Given the description of an element on the screen output the (x, y) to click on. 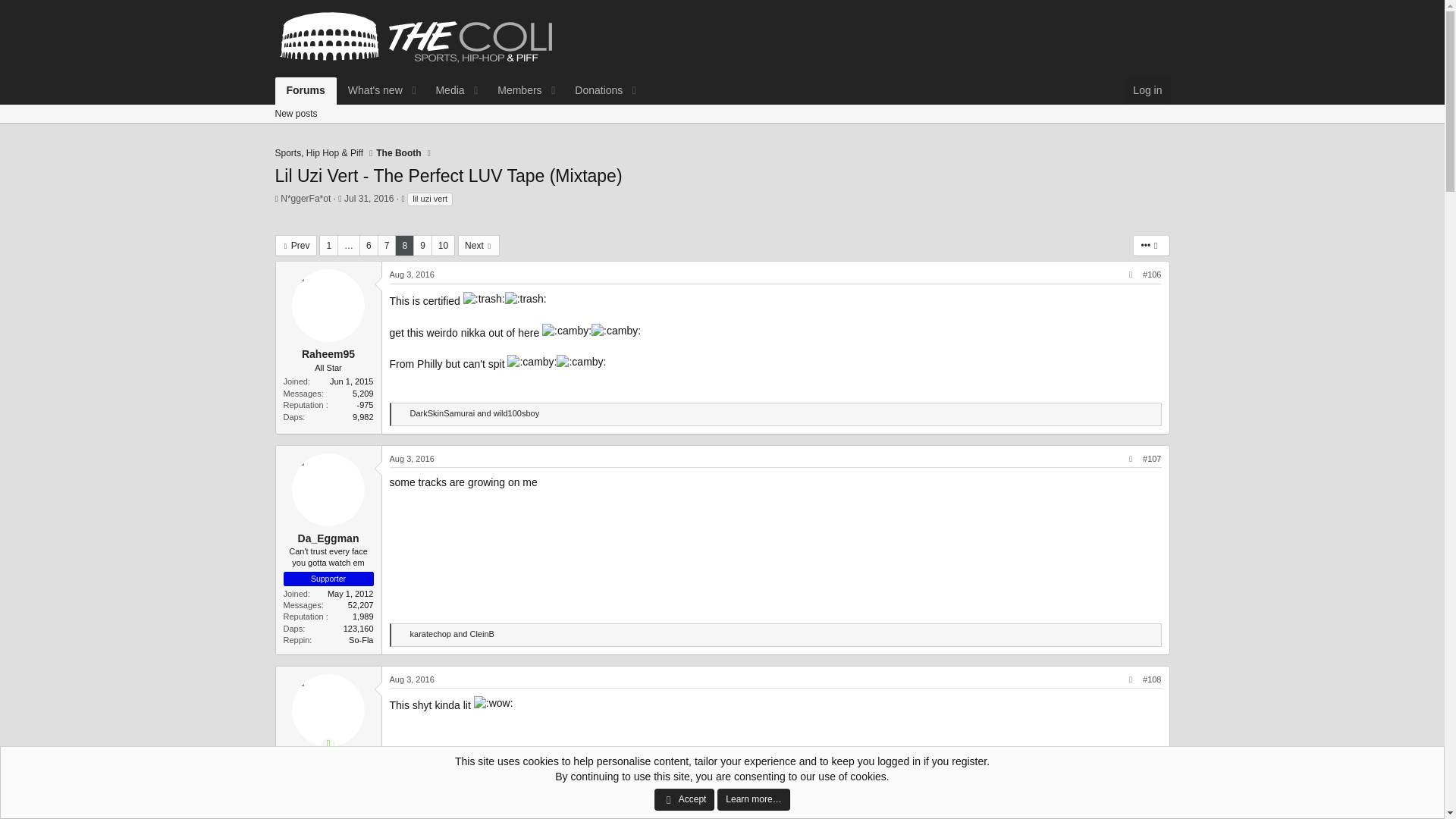
Jul 31, 2016 (368, 198)
trash    :trash: (484, 299)
What's new (370, 90)
Aug 3, 2016 at 12:23 PM (411, 274)
lil uzi vert (429, 199)
New posts (295, 113)
Donations (593, 90)
Camby    :camby: (566, 331)
Media (444, 90)
Camby    :camby: (580, 362)
